Given the description of an element on the screen output the (x, y) to click on. 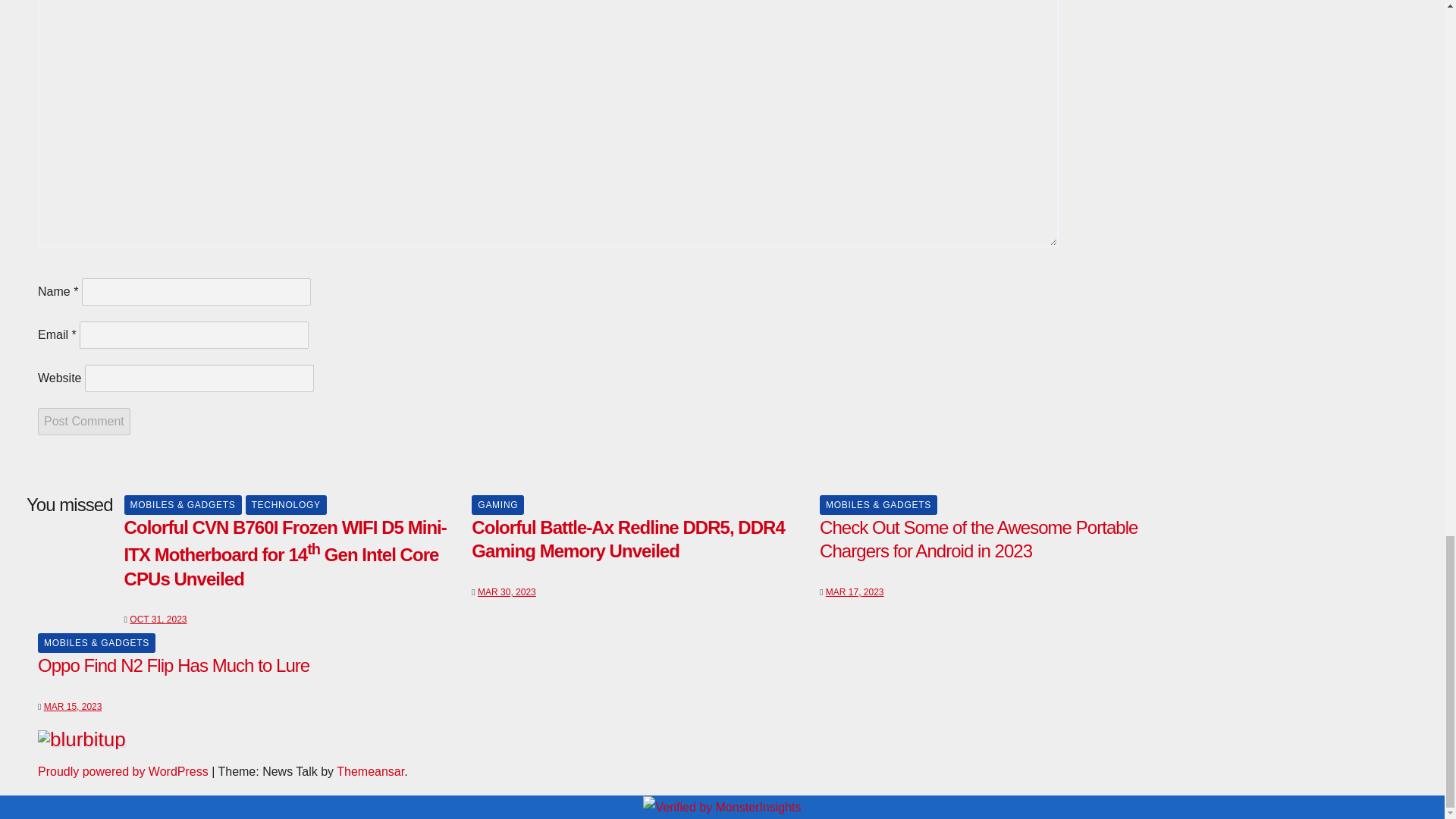
Post Comment (84, 420)
Permalink to: Oppo Find N2 Flip Has Much to Lure (172, 665)
